Given the description of an element on the screen output the (x, y) to click on. 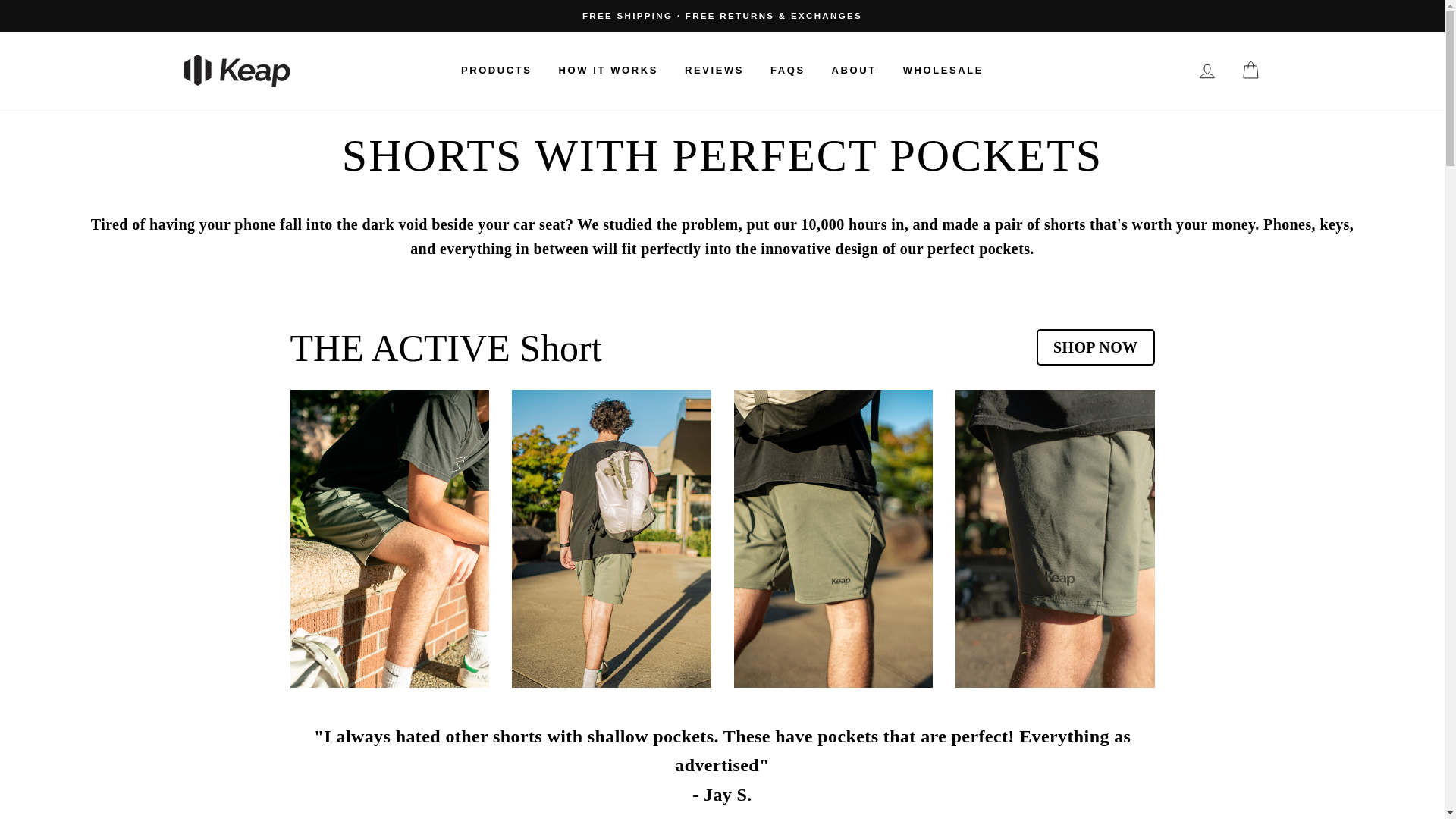
PRODUCTS (496, 70)
CART (1249, 70)
FAQS (787, 70)
REVIEWS (713, 70)
LOG IN (1207, 70)
ABOUT (854, 70)
SHOP NOW (1095, 347)
HOW IT WORKS (608, 70)
WHOLESALE (942, 70)
